Given the description of an element on the screen output the (x, y) to click on. 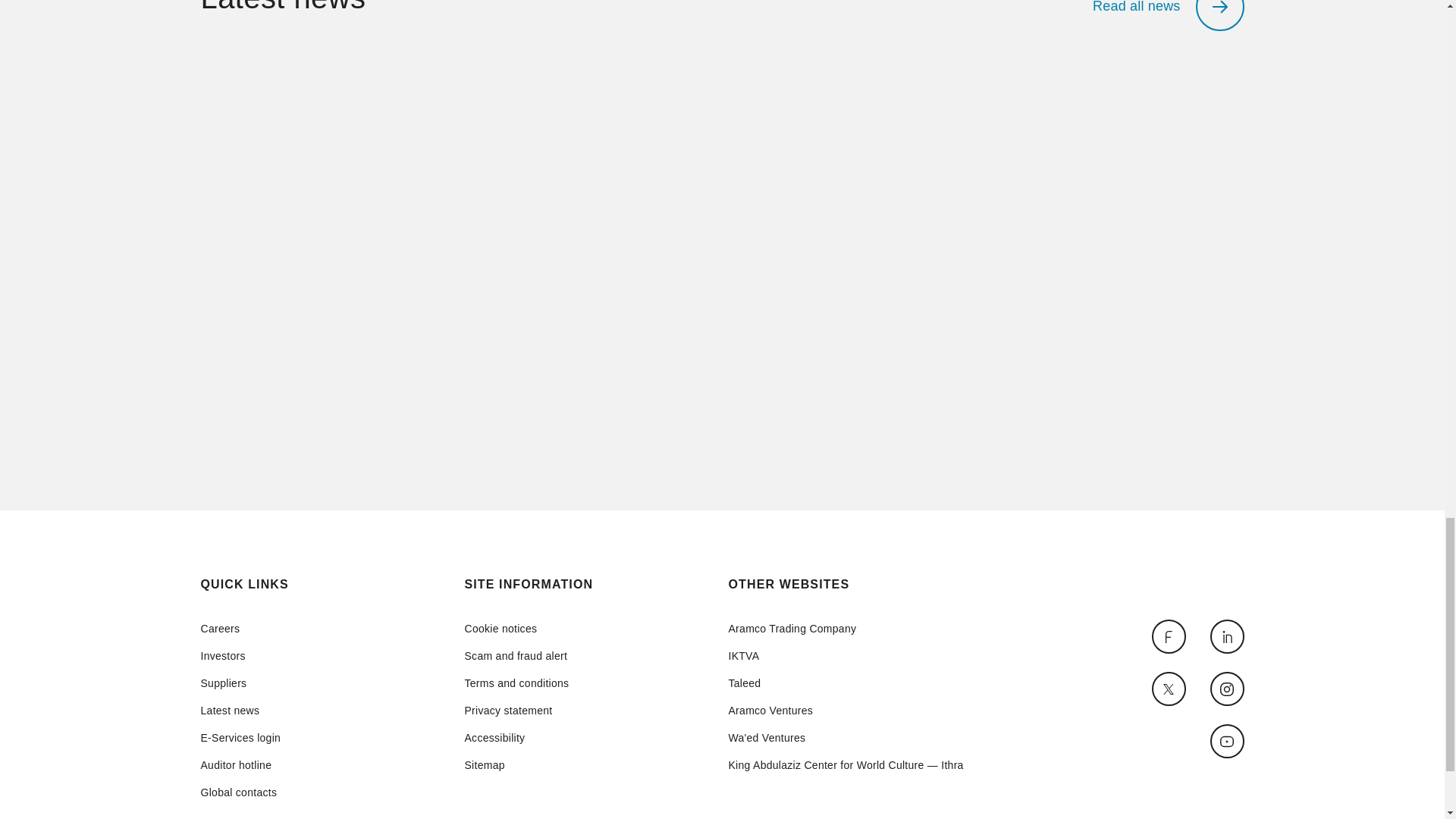
Auditor hotline (240, 765)
Sitemap (516, 765)
Aramco Ventures (845, 710)
Global contacts (240, 792)
Read all news (1168, 15)
Wa'ed Ventures (845, 737)
Terms and conditions (516, 683)
Accessibility (516, 737)
E-Services login (240, 737)
Latest news (240, 710)
Careers (240, 628)
Taleed (845, 683)
IKTVA (845, 655)
Scam and fraud alert (516, 655)
Suppliers (240, 683)
